Given the description of an element on the screen output the (x, y) to click on. 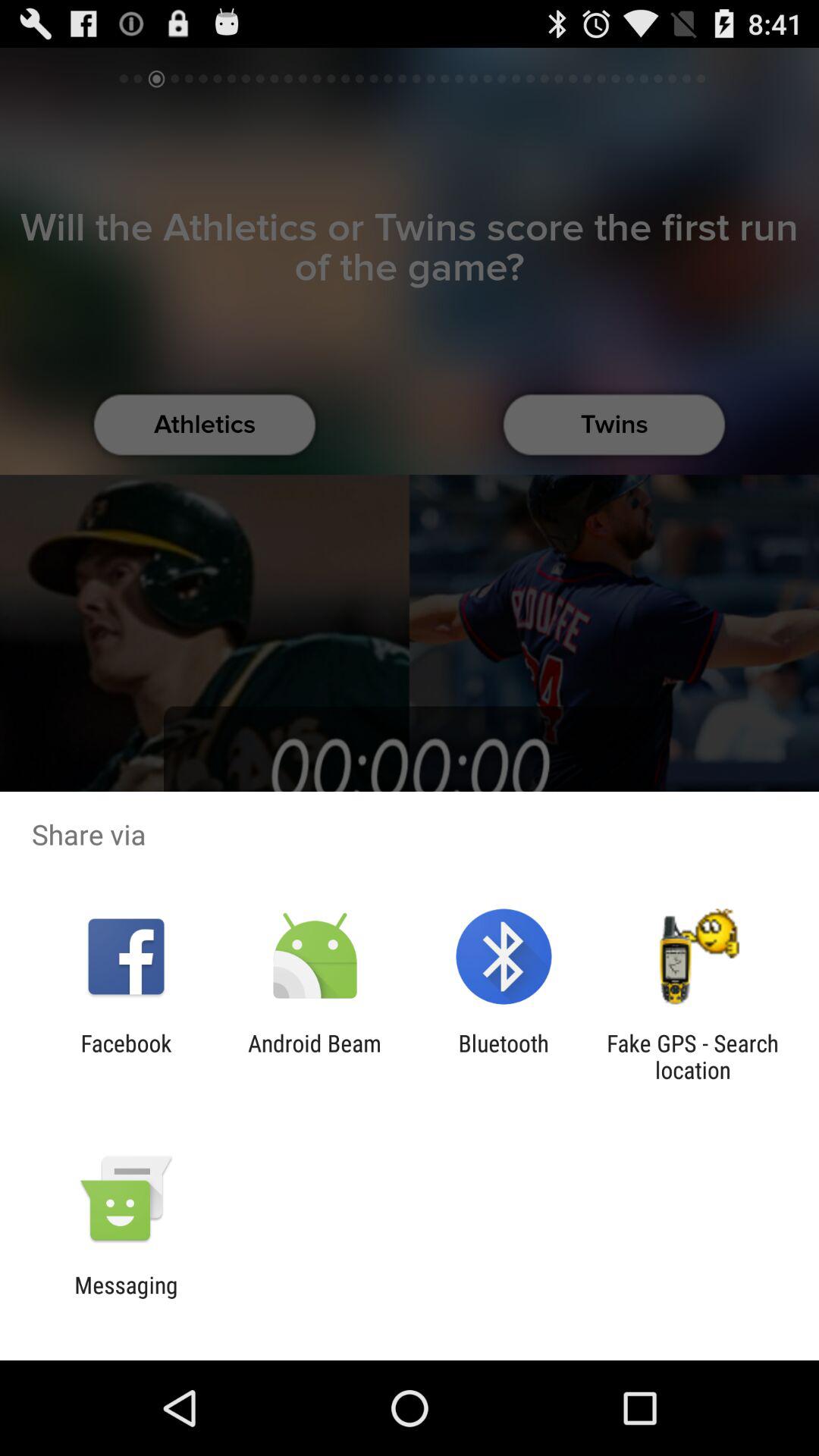
choose icon next to the android beam (125, 1056)
